Given the description of an element on the screen output the (x, y) to click on. 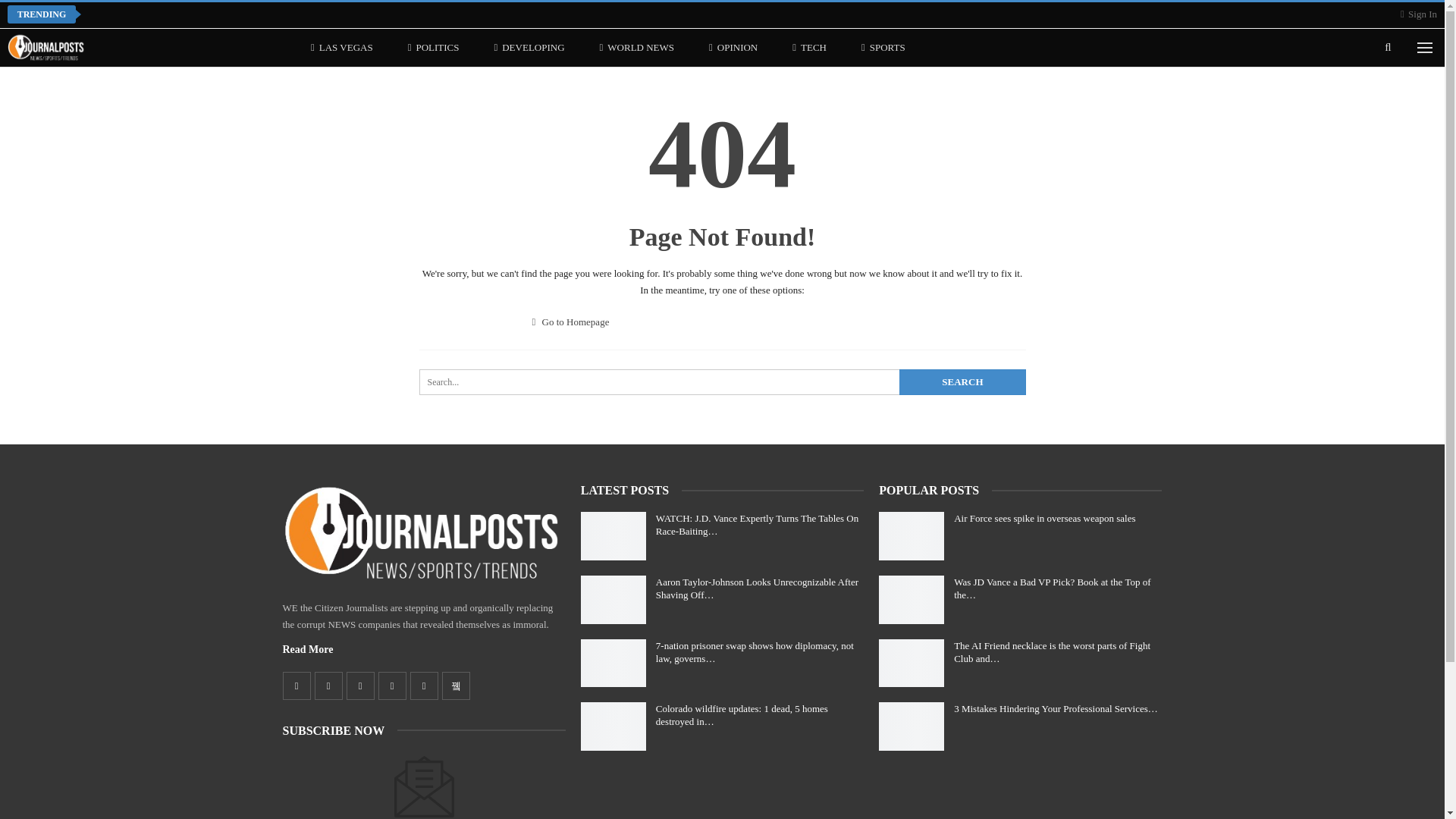
Read More (307, 649)
Search (962, 381)
OPINION (732, 47)
Search (962, 381)
LAS VEGAS (342, 47)
DEVELOPING (528, 47)
Search (962, 381)
POLITICS (433, 47)
WORLD NEWS (637, 47)
Search for: (722, 381)
SPORTS (883, 47)
